Given the description of an element on the screen output the (x, y) to click on. 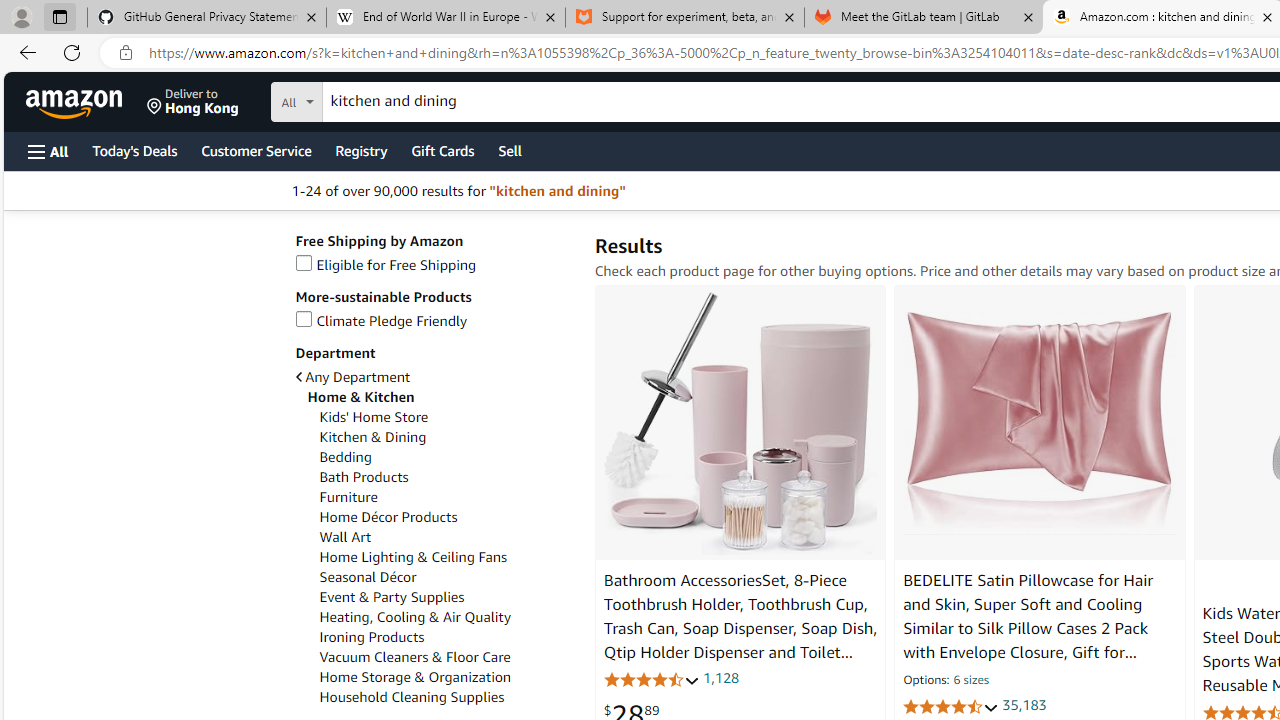
Heating, Cooling & Air Quality (415, 617)
Wall Art (345, 537)
Bath Products (363, 477)
